Given the description of an element on the screen output the (x, y) to click on. 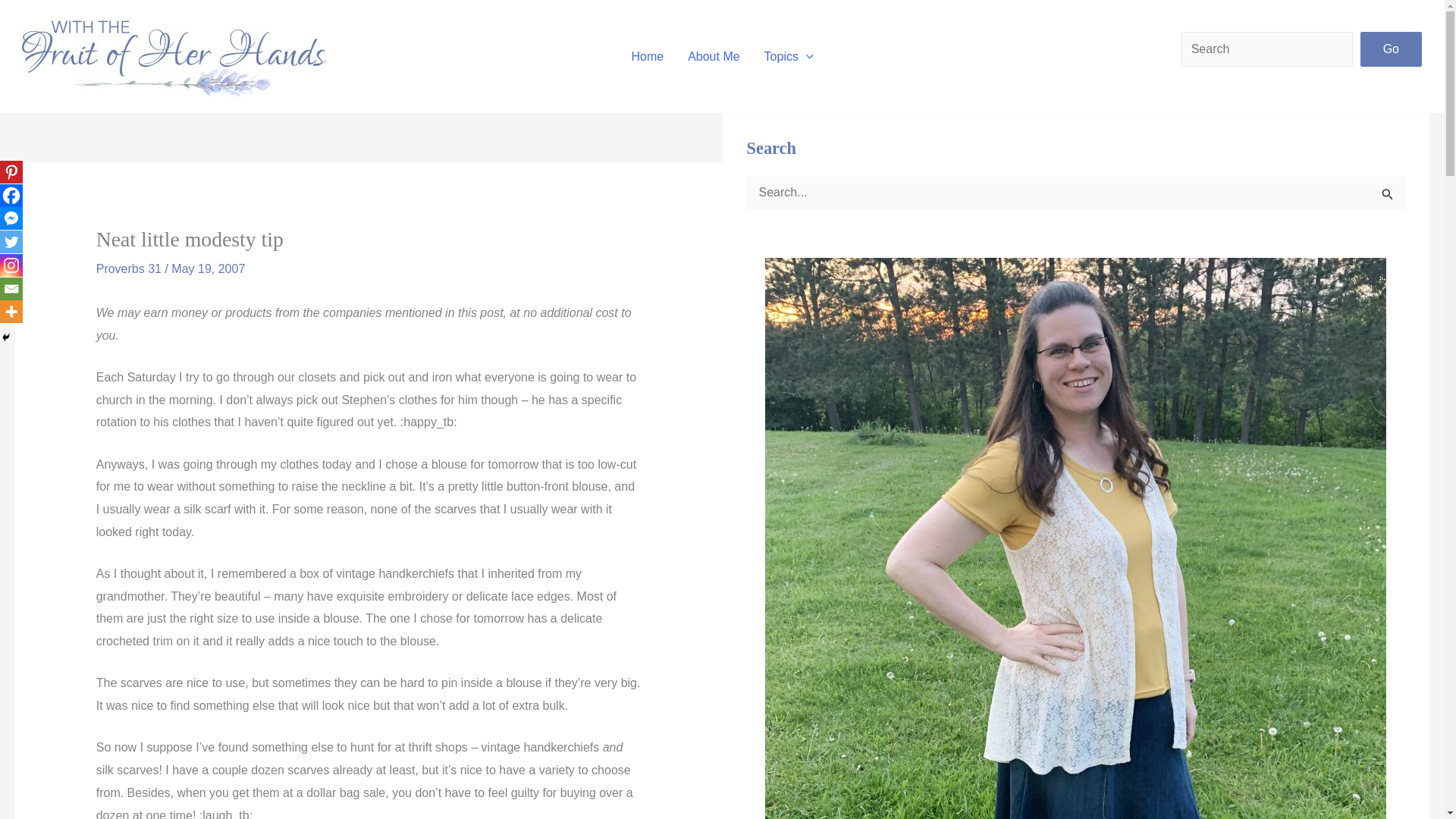
Go (1390, 48)
About Me (713, 56)
Search (1388, 197)
Topics (788, 56)
Email (11, 288)
Home (646, 56)
More (11, 311)
Search (1388, 197)
Pinterest (11, 171)
Facebook (11, 195)
Hide (5, 337)
Instagram (11, 264)
Twitter (11, 241)
